Given the description of an element on the screen output the (x, y) to click on. 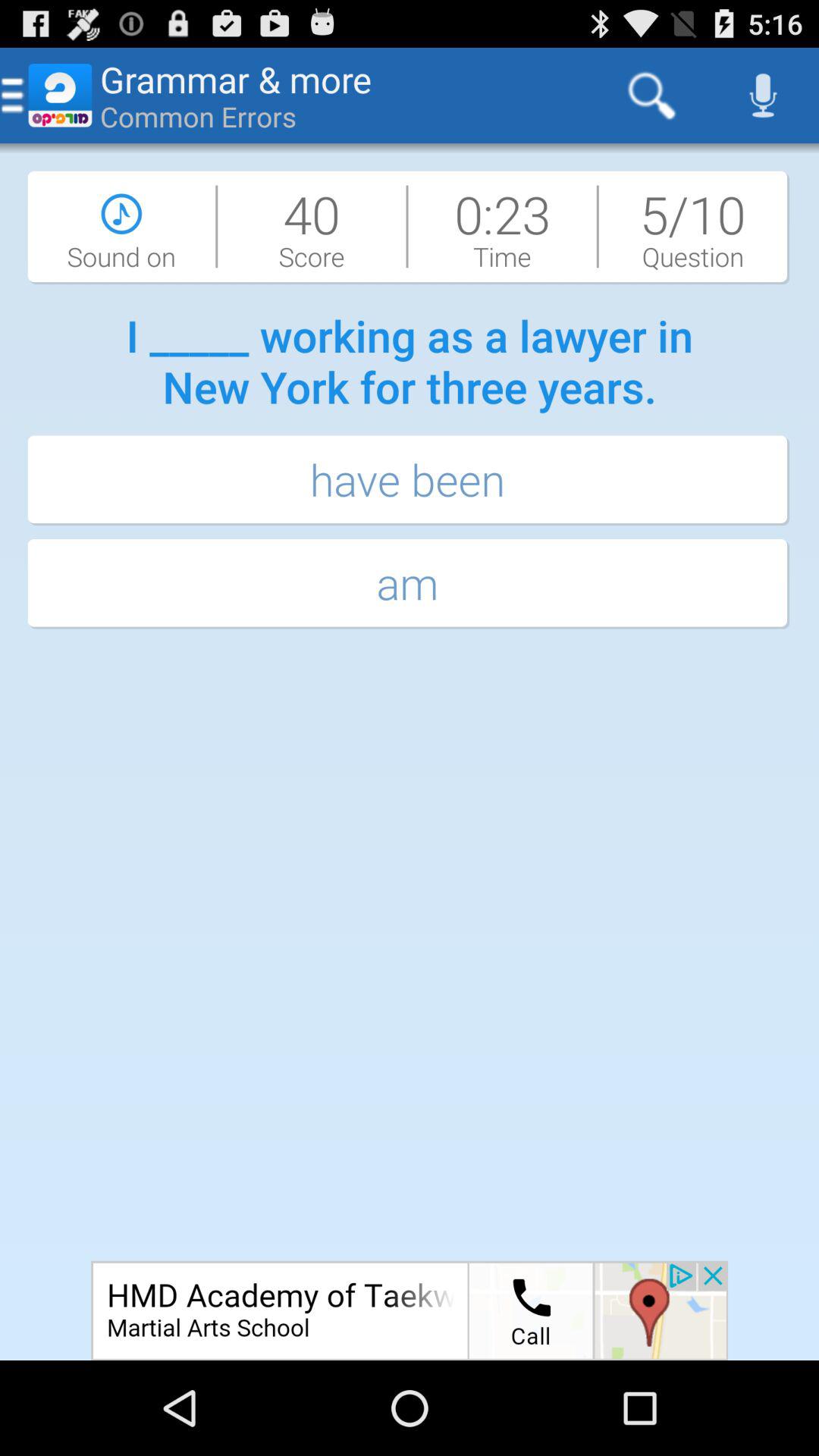
this option advertisement (409, 1310)
